Given the description of an element on the screen output the (x, y) to click on. 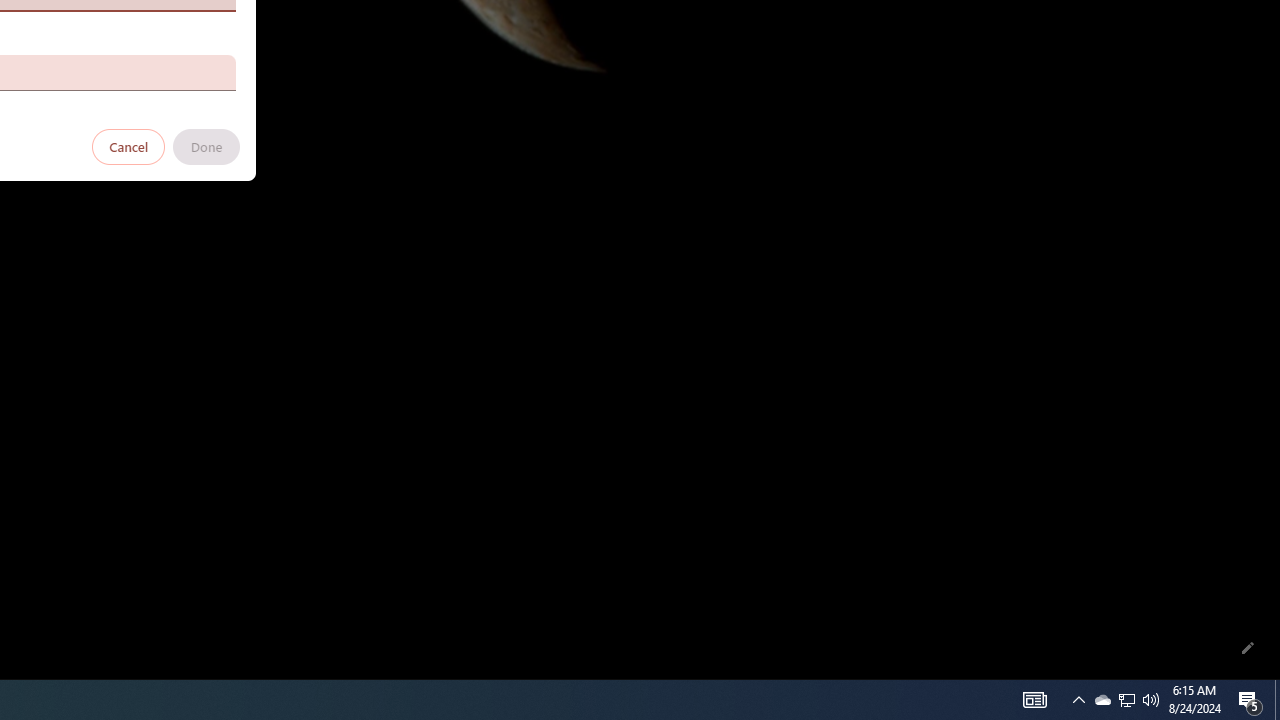
Done (206, 146)
Cancel (129, 146)
